Given the description of an element on the screen output the (x, y) to click on. 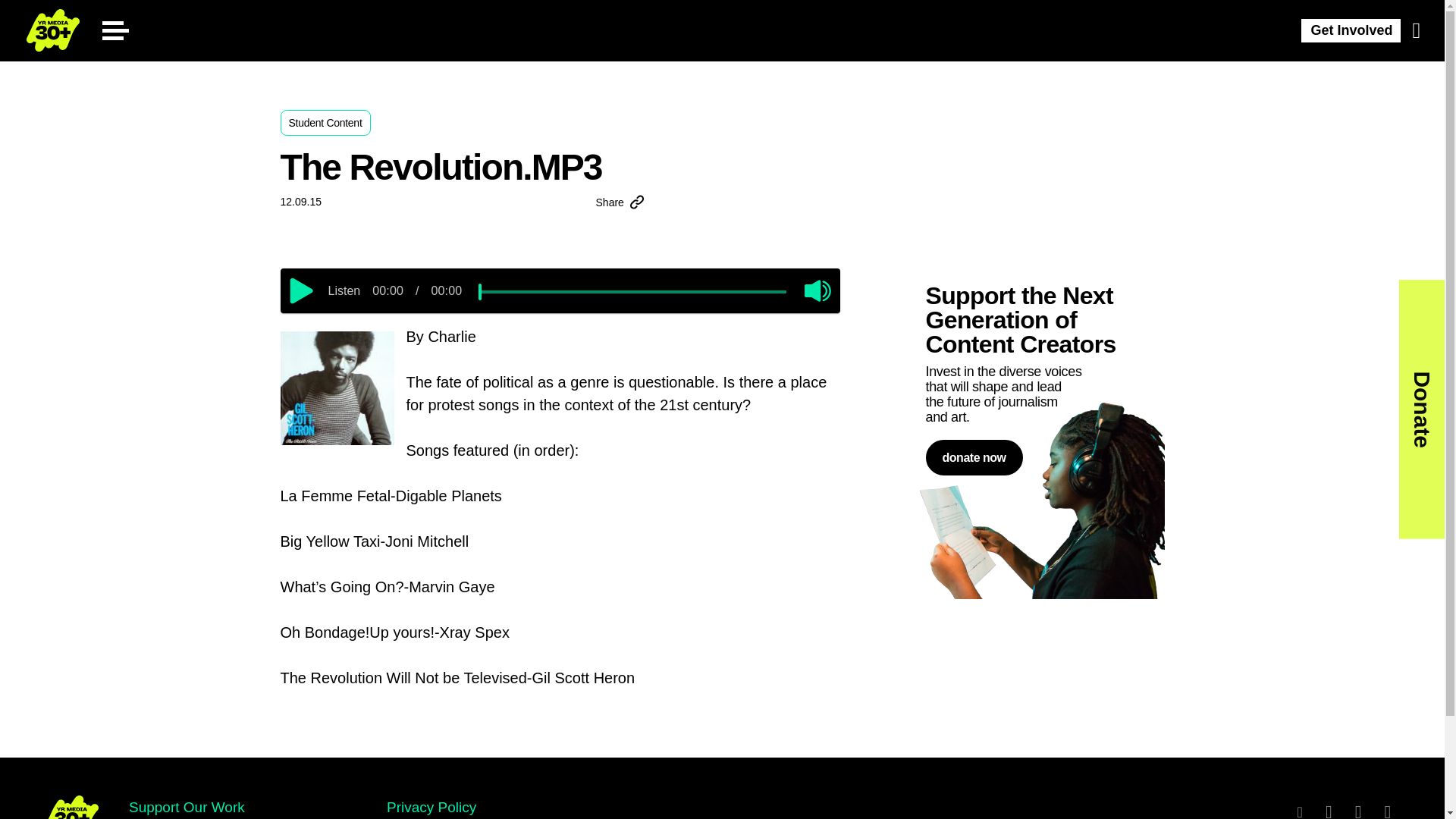
Student Content (326, 122)
Support Our Work (186, 806)
donate now (973, 457)
Get Involved (1350, 30)
